Given the description of an element on the screen output the (x, y) to click on. 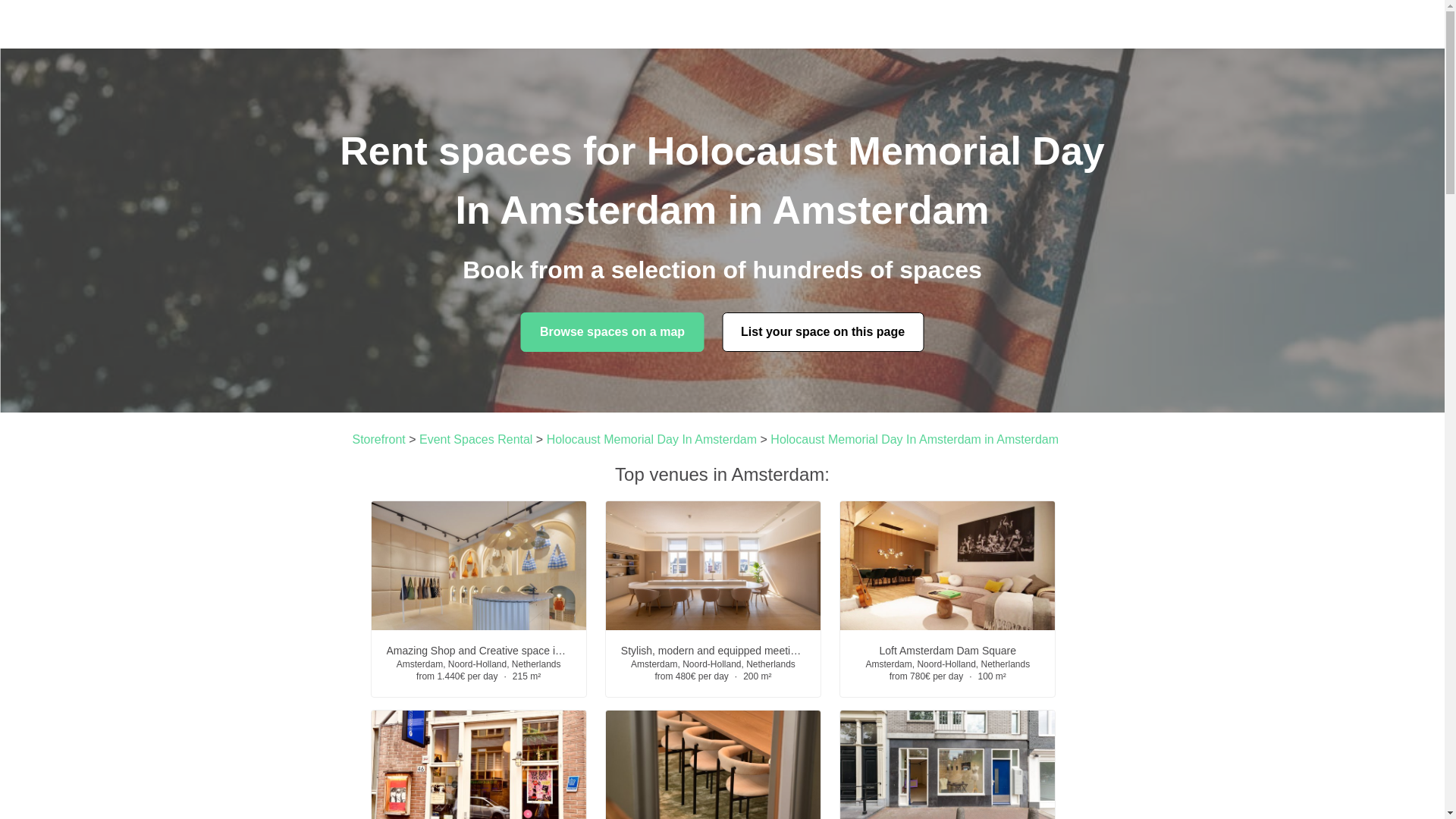
Browse spaces on a map (612, 332)
Storefront (378, 439)
Holocaust Memorial Day In Amsterdam (652, 439)
Event Spaces Rental (475, 439)
List your space on this page (822, 332)
Holocaust Memorial Day In Amsterdam in Amsterdam (914, 439)
